Given the description of an element on the screen output the (x, y) to click on. 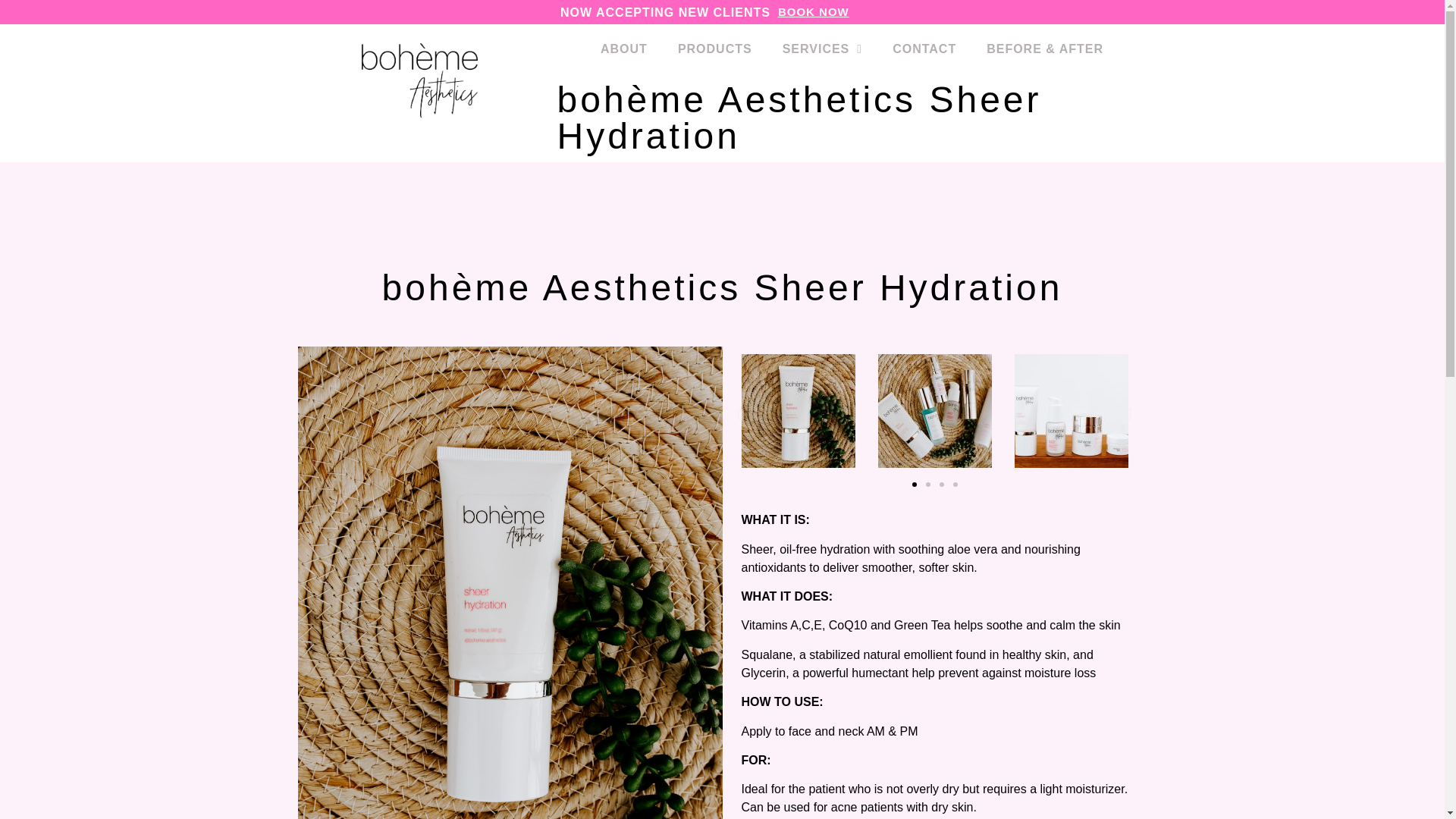
PRODUCTS (714, 48)
SERVICES (822, 48)
CONTACT (924, 48)
ABOUT (623, 48)
